Given the description of an element on the screen output the (x, y) to click on. 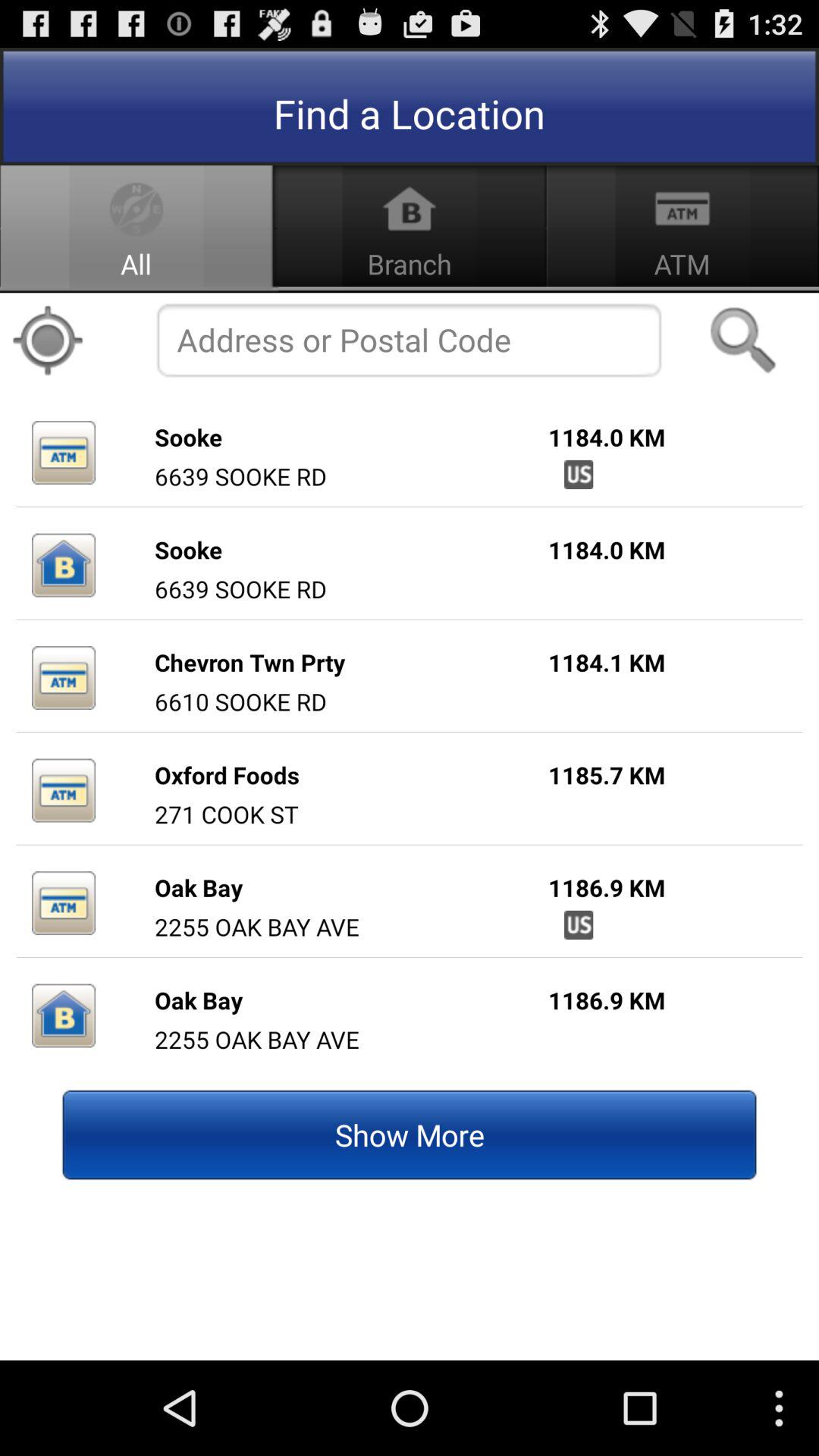
click the icon above the 1184.0 km item (743, 340)
